Given the description of an element on the screen output the (x, y) to click on. 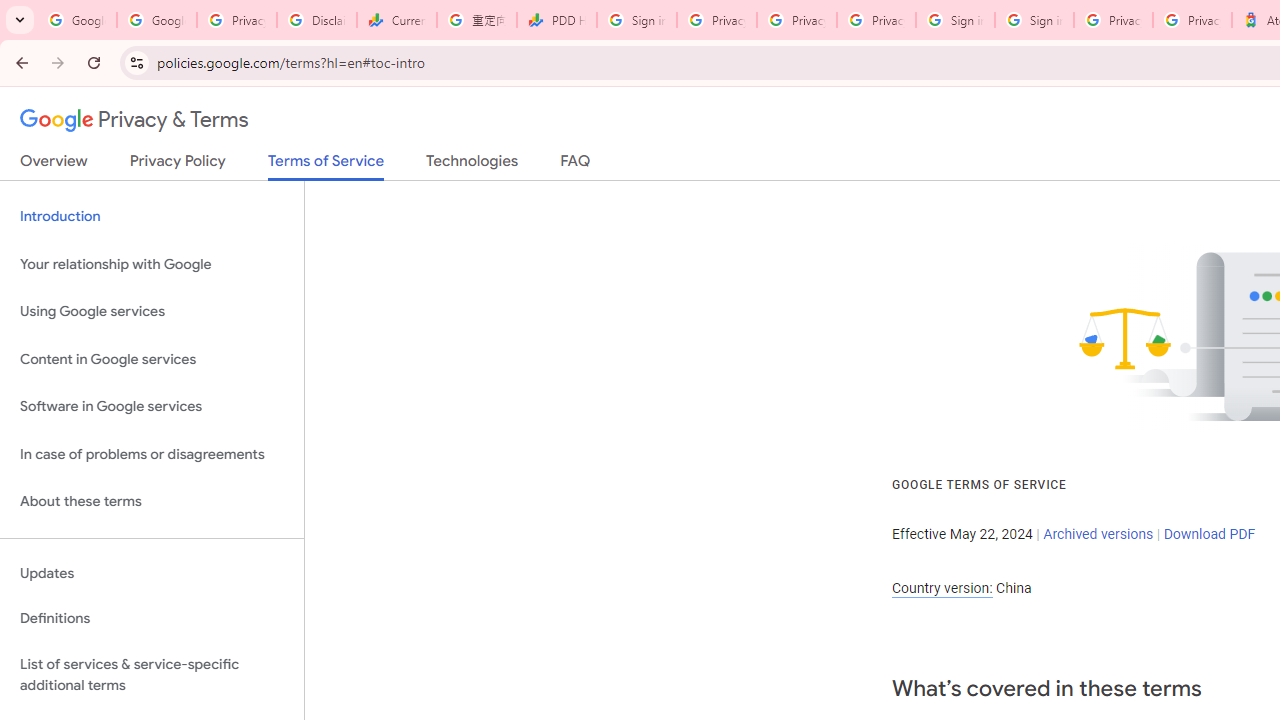
Download PDF (1209, 533)
Privacy Checkup (876, 20)
Sign in - Google Accounts (1033, 20)
Software in Google services (152, 407)
Google Workspace Admin Community (76, 20)
Currencies - Google Finance (396, 20)
In case of problems or disagreements (152, 453)
Content in Google services (152, 358)
Definitions (152, 619)
